Given the description of an element on the screen output the (x, y) to click on. 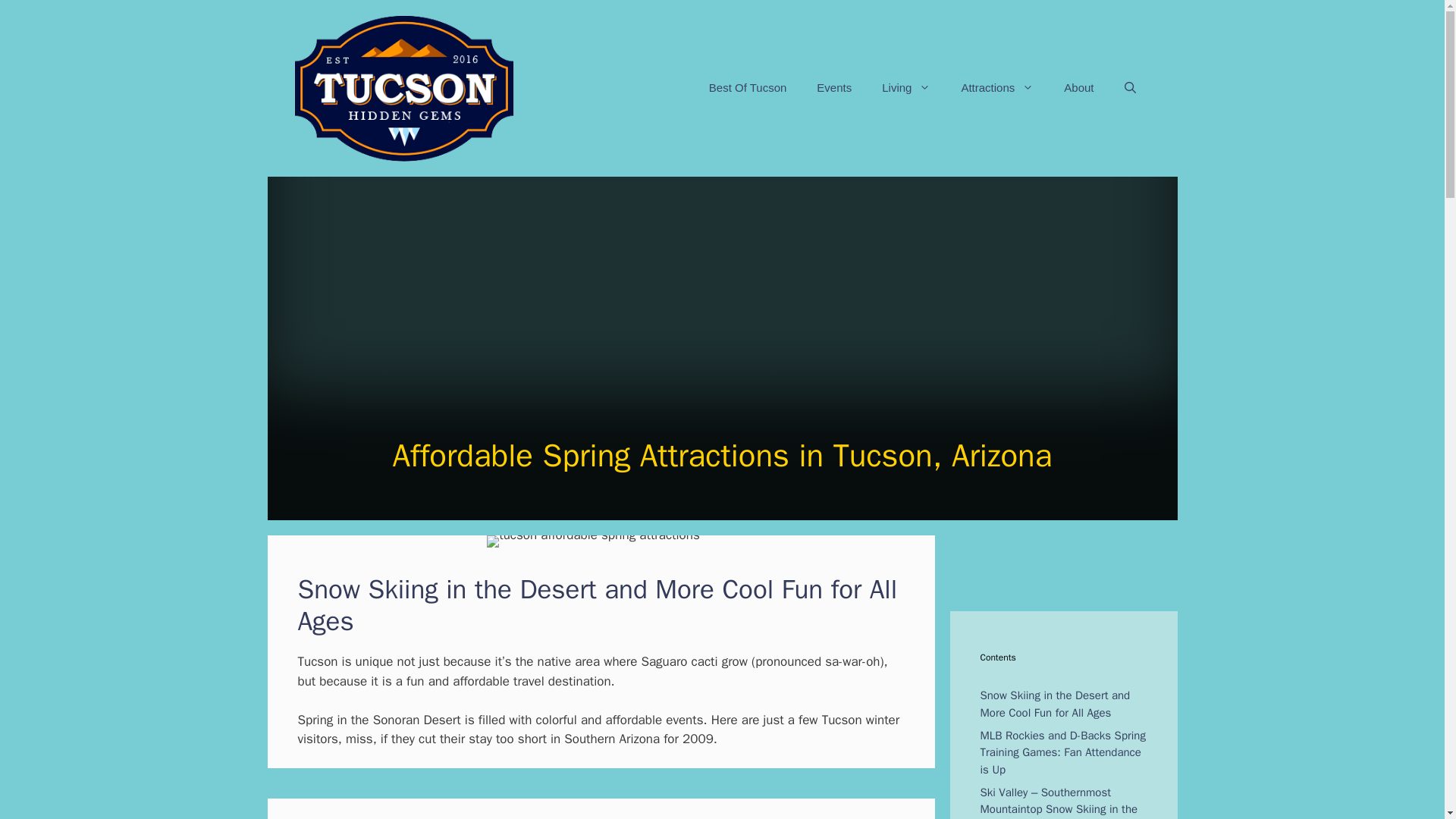
Attractions (996, 87)
Events (834, 87)
About (1078, 87)
Living (905, 87)
Best Of Tucson (748, 87)
Snow Skiing in the Desert and More Cool Fun for All Ages (1054, 703)
